Given the description of an element on the screen output the (x, y) to click on. 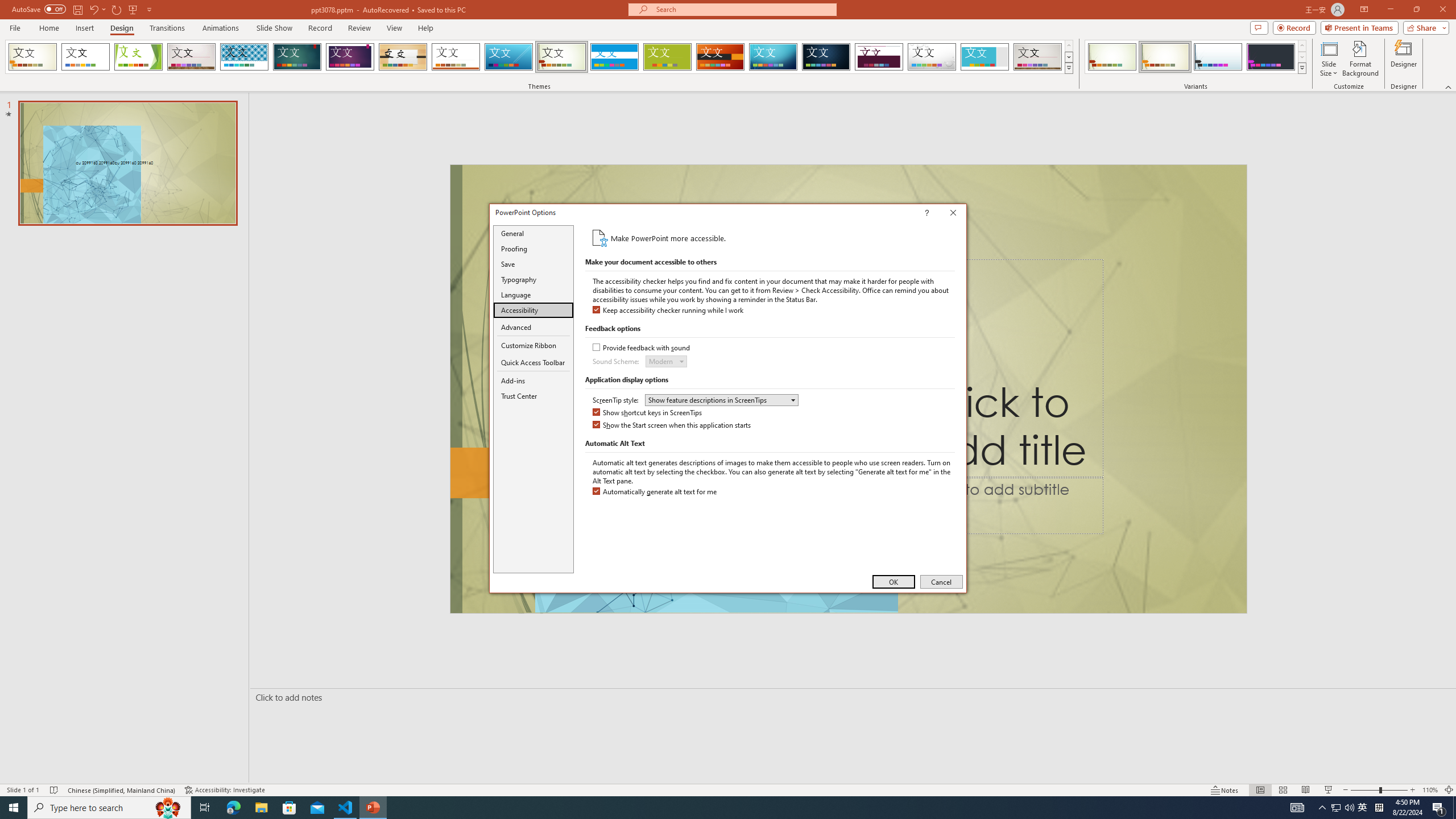
Wisp Variant 4 (1270, 56)
AutomationID: SlideThemesGallery (539, 56)
Wisp Loading Preview... (561, 56)
Basis Loading Preview... (667, 56)
